Given the description of an element on the screen output the (x, y) to click on. 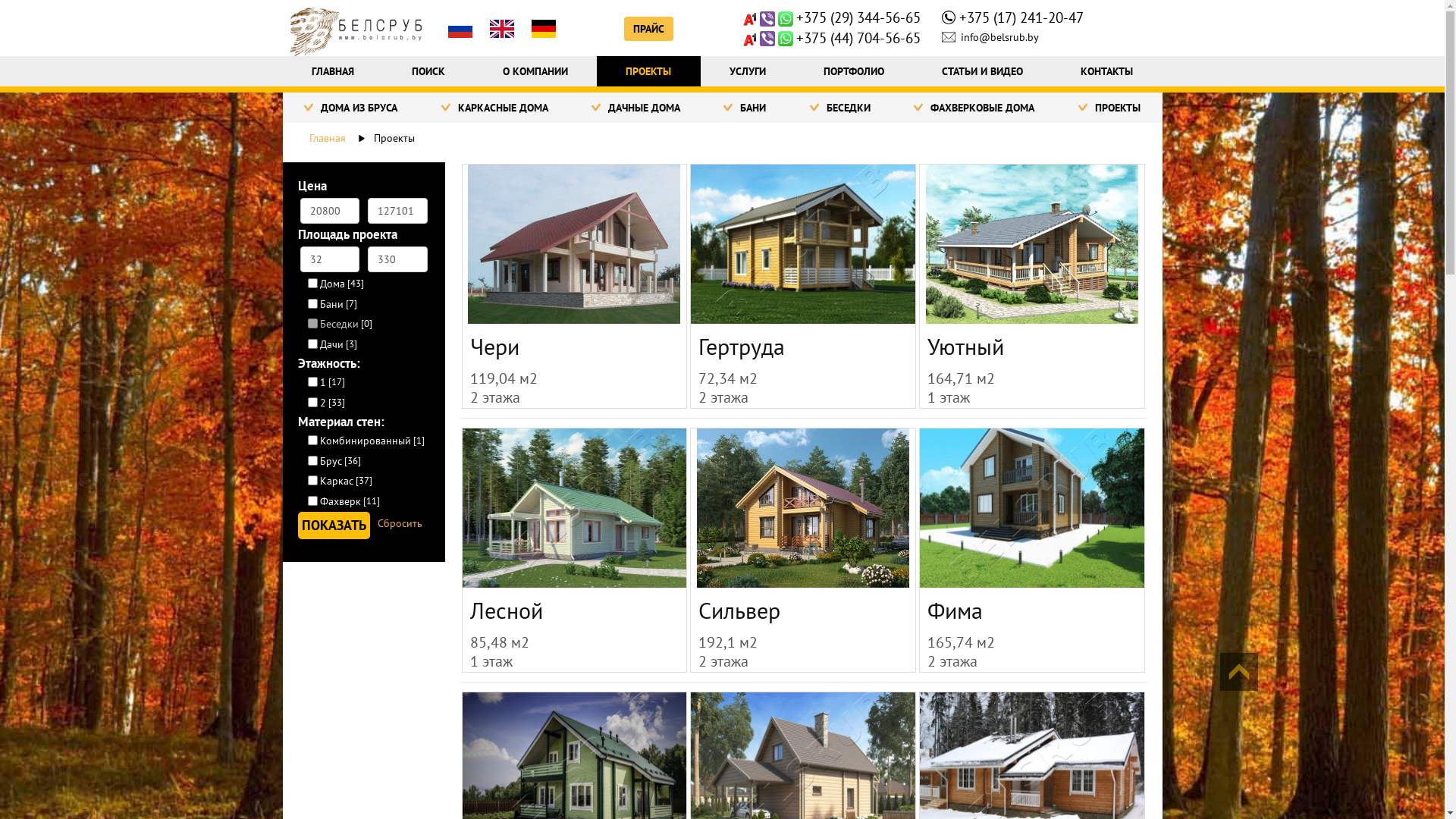
+375 (44) 704-56-65 Element type: text (858, 37)
info@belsrub.by Element type: text (989, 36)
+375 (29) 344-56-65 Element type: text (858, 17)
+375 (17) 241-20-47 Element type: text (1021, 17)
